Given the description of an element on the screen output the (x, y) to click on. 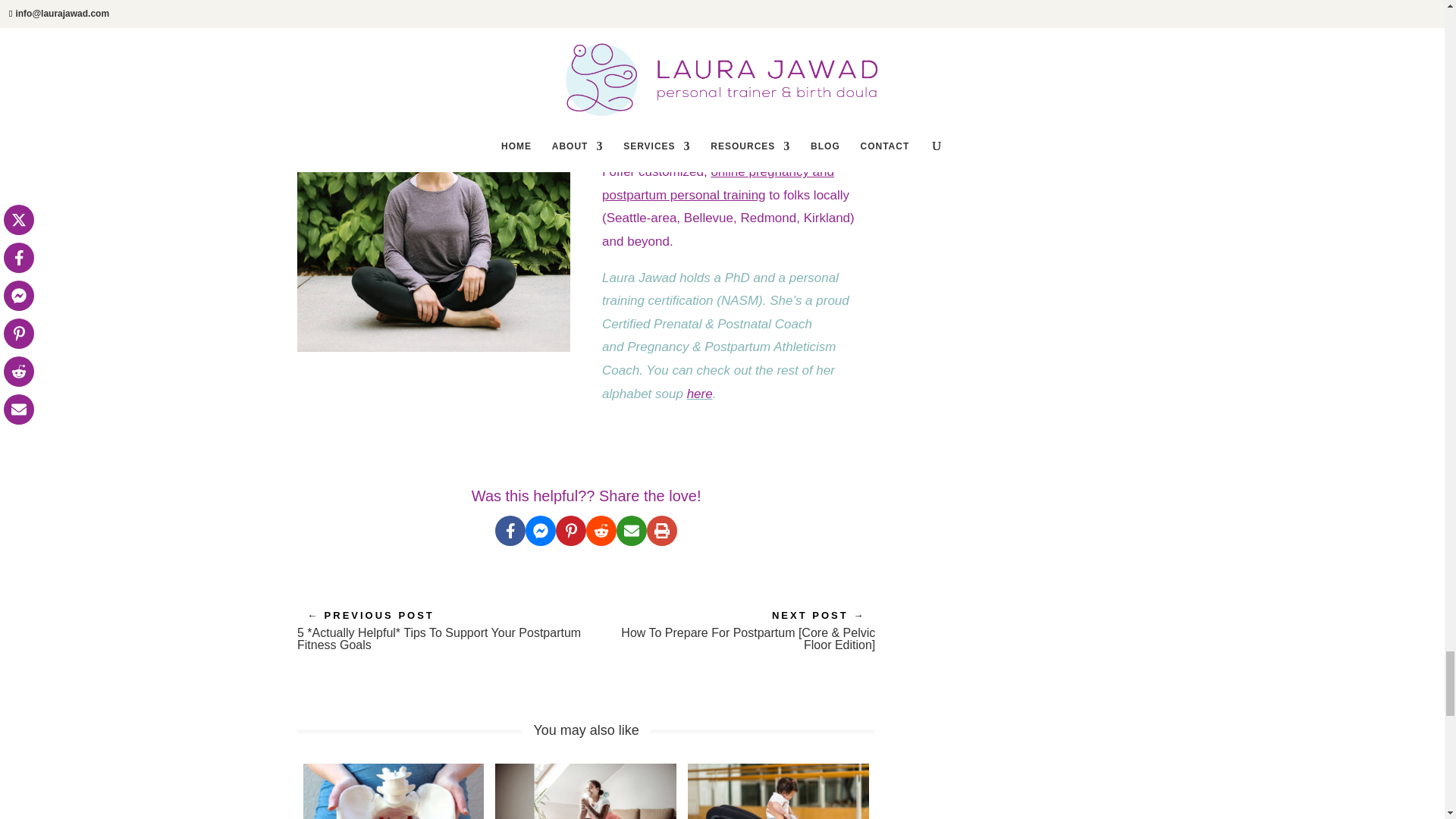
here (700, 393)
